Given the description of an element on the screen output the (x, y) to click on. 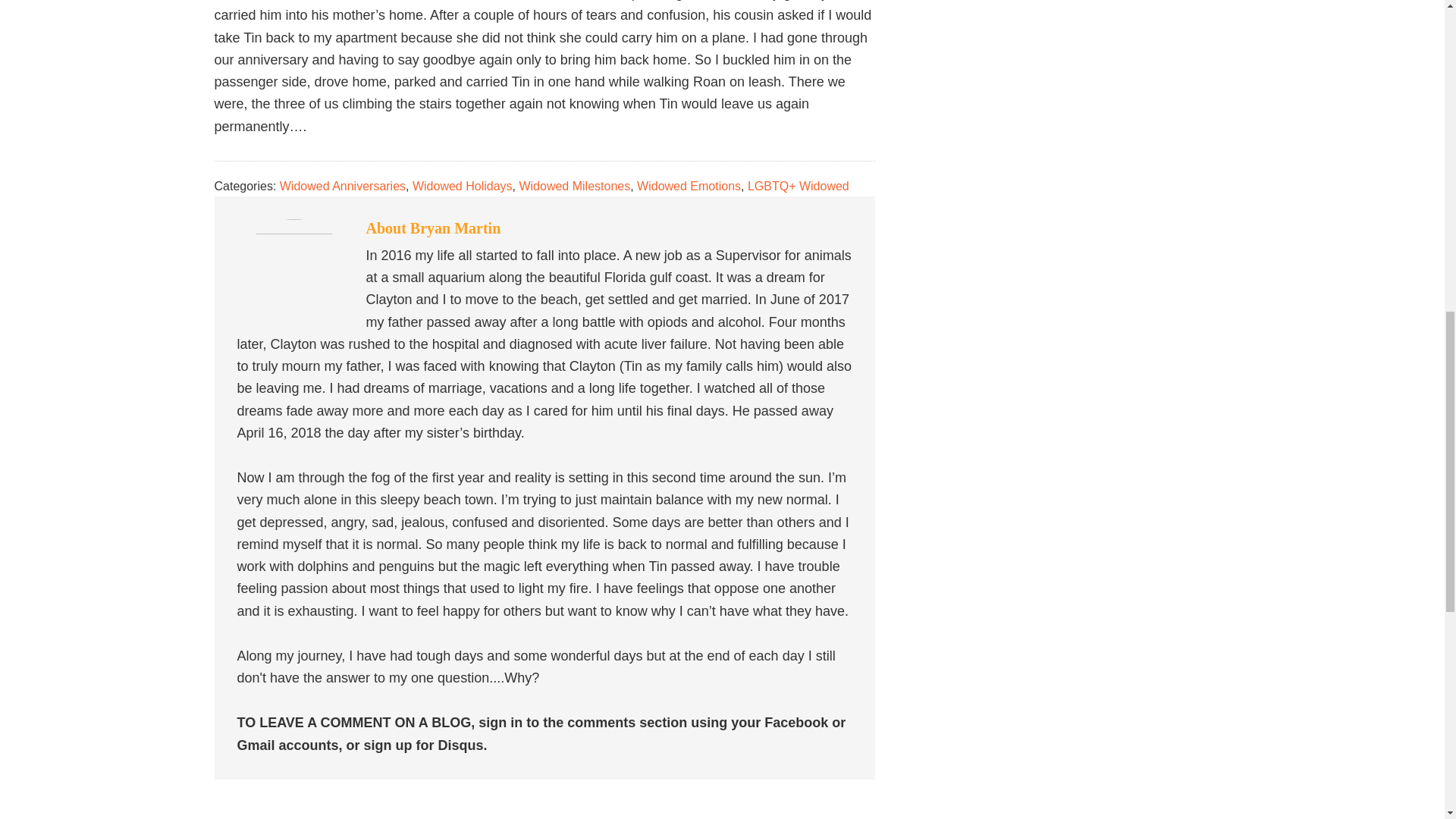
Widowed Holidays (462, 185)
Widowed Milestones (574, 185)
Widowed Emotions (689, 185)
Widowed Anniversaries (342, 185)
